Given the description of an element on the screen output the (x, y) to click on. 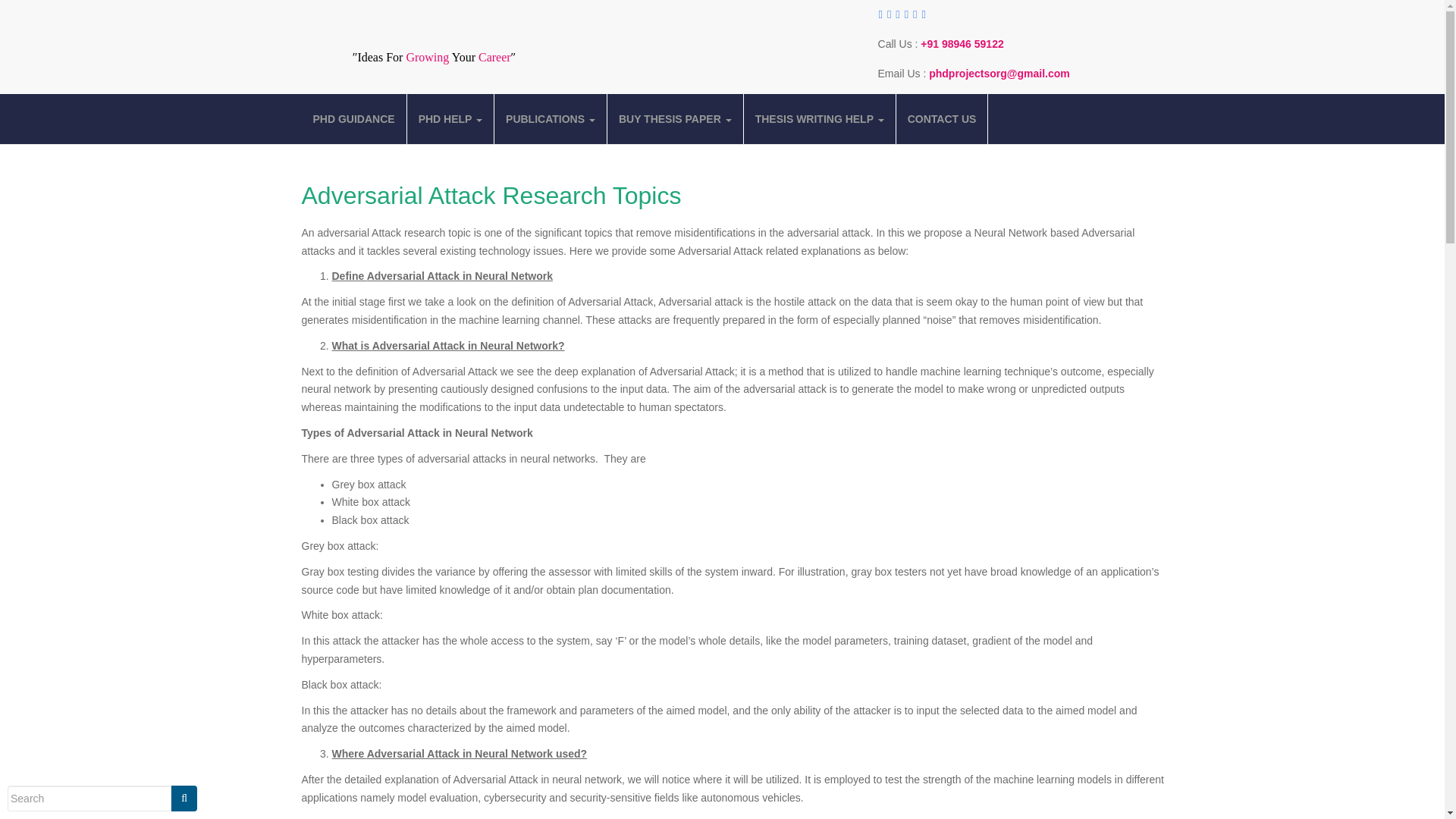
PHD GUIDANCE (353, 119)
PHD HELP (450, 119)
PHD HELP (450, 119)
PUBLICATIONS (551, 119)
PHD Guidance (353, 119)
